Given the description of an element on the screen output the (x, y) to click on. 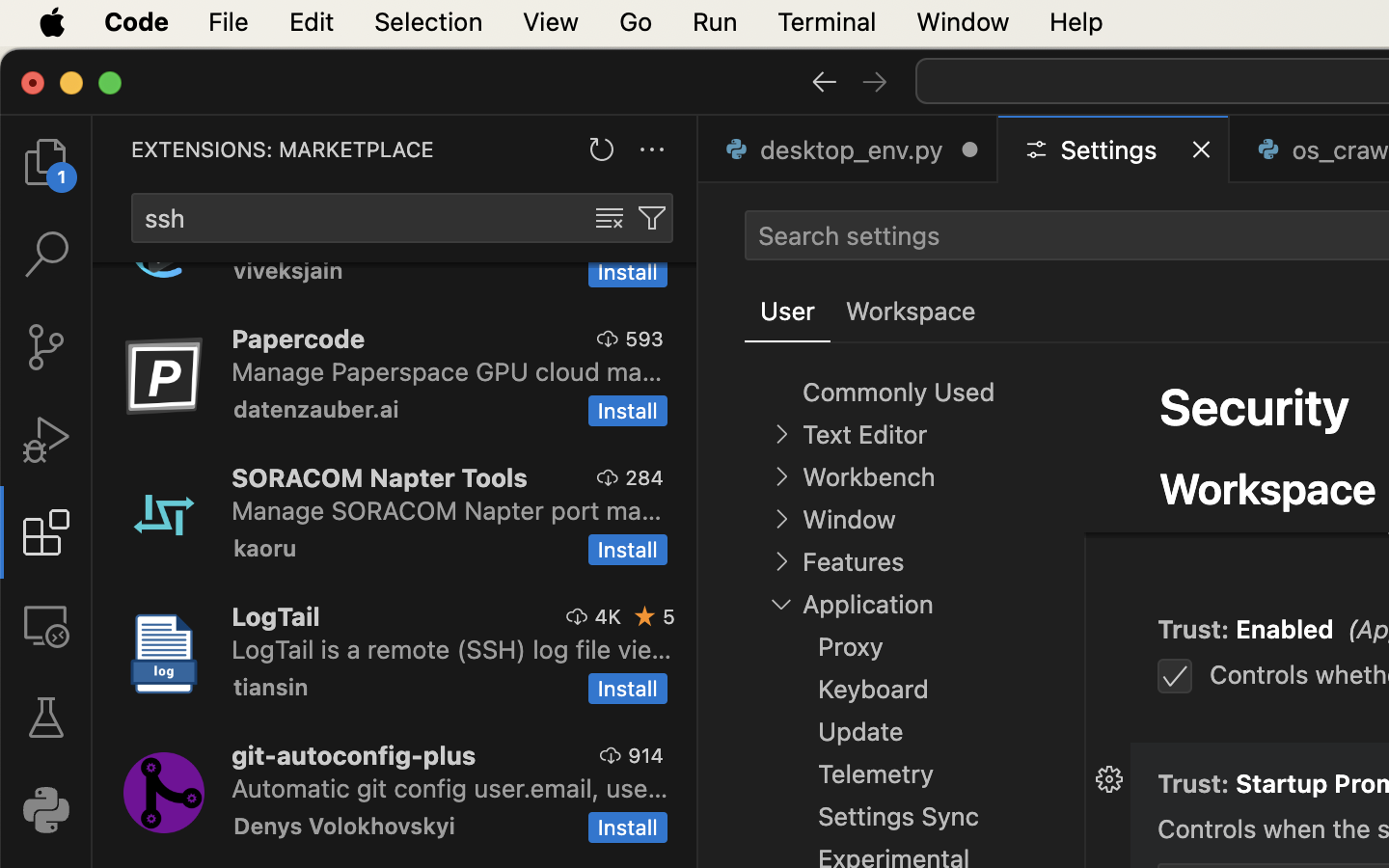
Commonly Used Element type: AXStaticText (898, 392)
Search settings Element type: AXStaticText (849, 235)
 Element type: AXGroup (46, 439)
EXTENSIONS: MARKETPLACE Element type: AXStaticText (282, 149)
Application Element type: AXStaticText (867, 604)
